Given the description of an element on the screen output the (x, y) to click on. 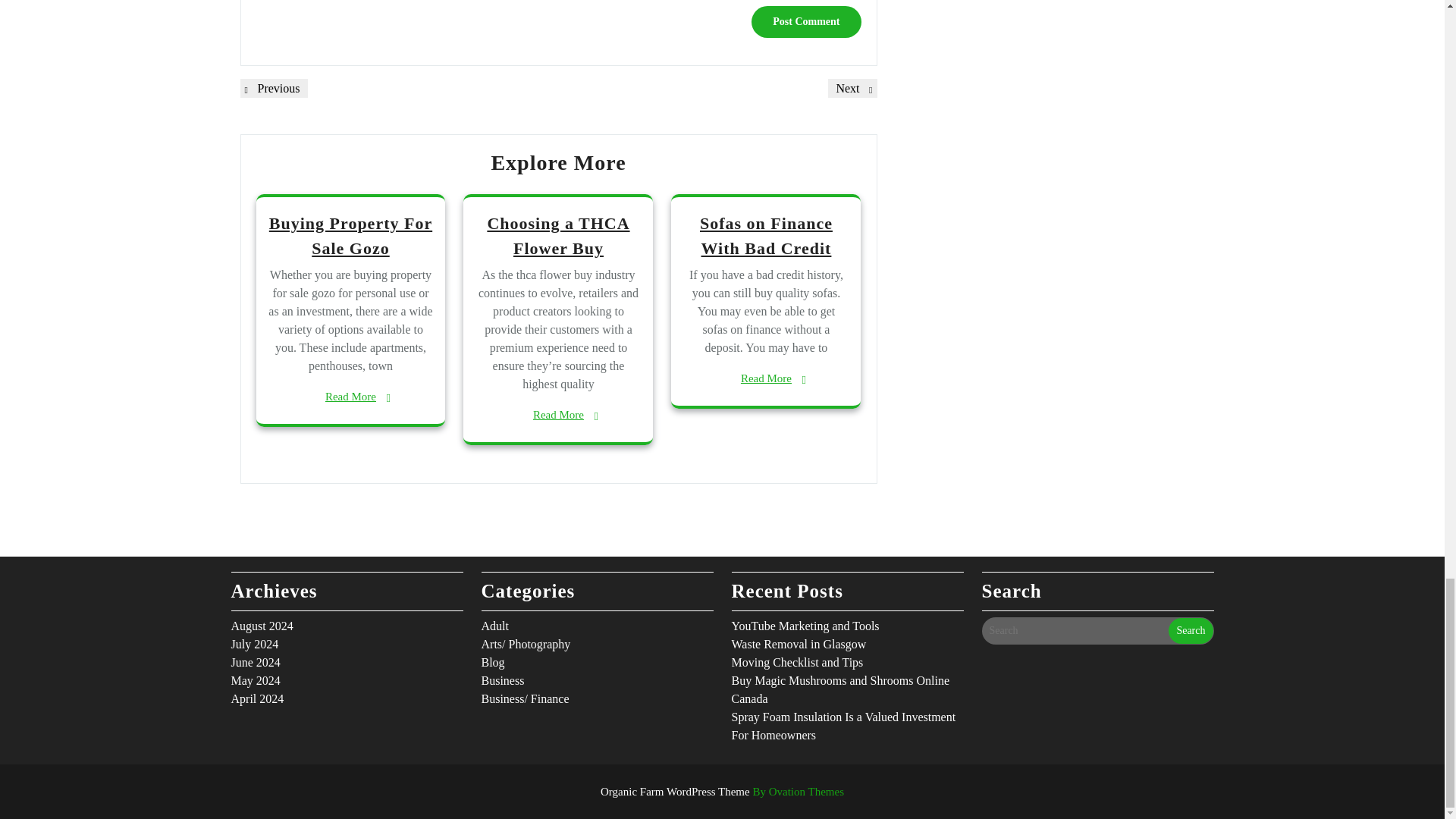
Read More (766, 378)
Sofas on Finance With Bad Credit (766, 235)
Buying Property For Sale Gozo (350, 235)
June 2024 (254, 662)
Read More (273, 87)
July 2024 (557, 415)
Choosing a THCA Flower Buy (254, 644)
May 2024 (557, 235)
Read More (254, 680)
